Given the description of an element on the screen output the (x, y) to click on. 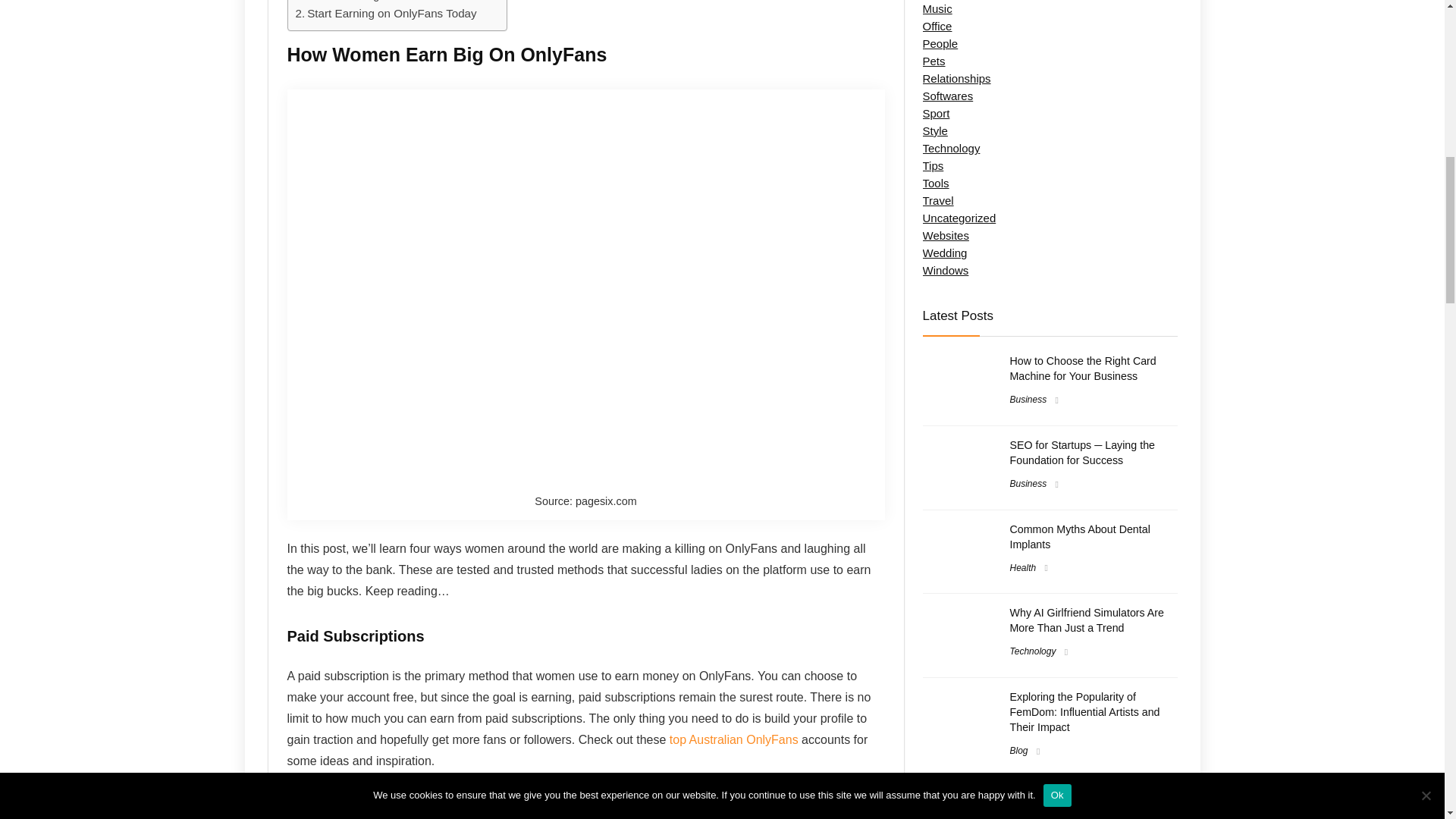
Start Earning on OnlyFans Today (386, 13)
Coaching and Tutorials (379, 2)
top Australian OnlyFans (733, 739)
Coaching and Tutorials (379, 2)
Start Earning on OnlyFans Today (386, 13)
